Given the description of an element on the screen output the (x, y) to click on. 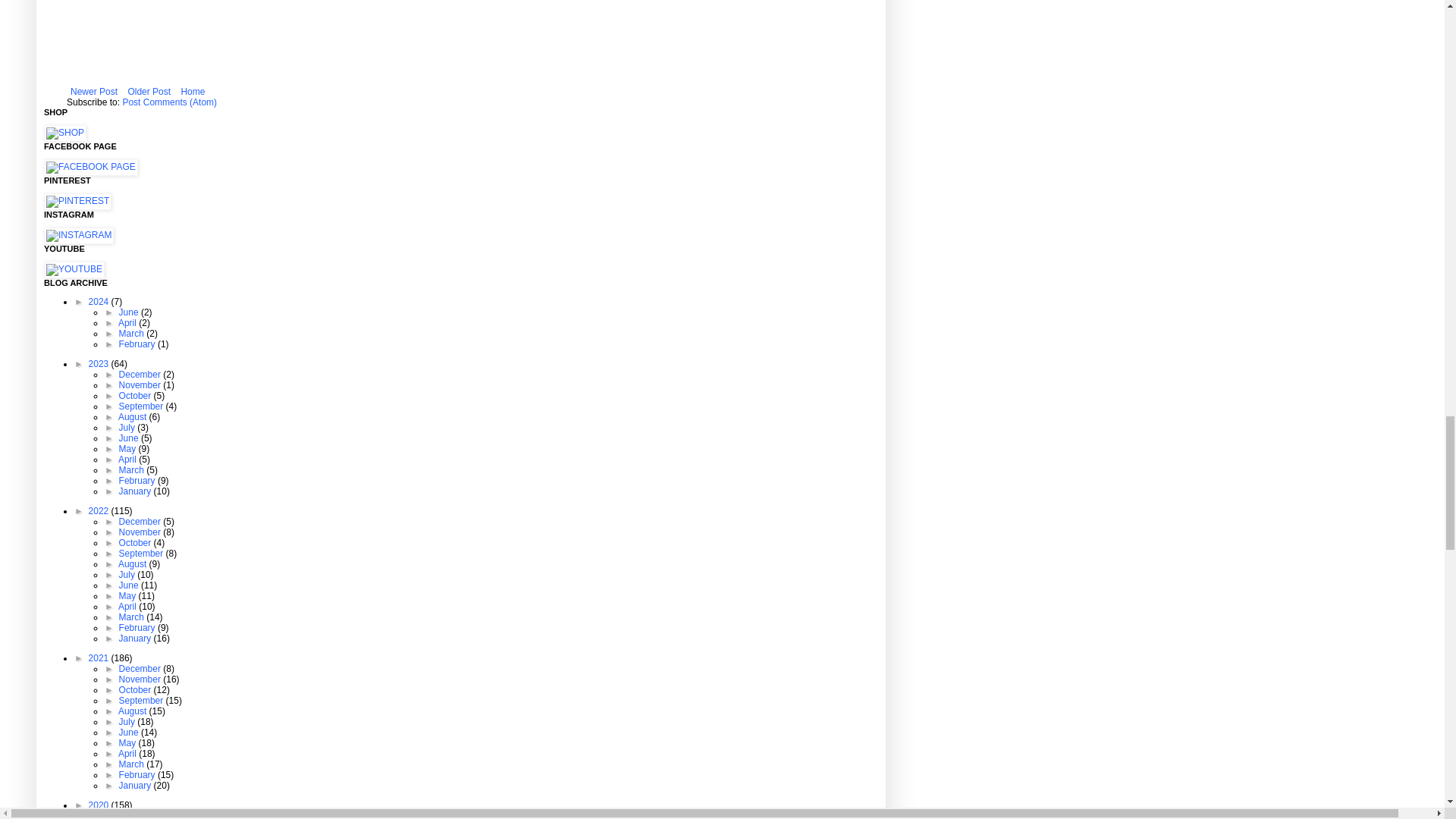
Older Post (148, 91)
2024 (100, 301)
Newer Post (93, 91)
Home (192, 91)
Older Post (148, 91)
Newer Post (93, 91)
